Given the description of an element on the screen output the (x, y) to click on. 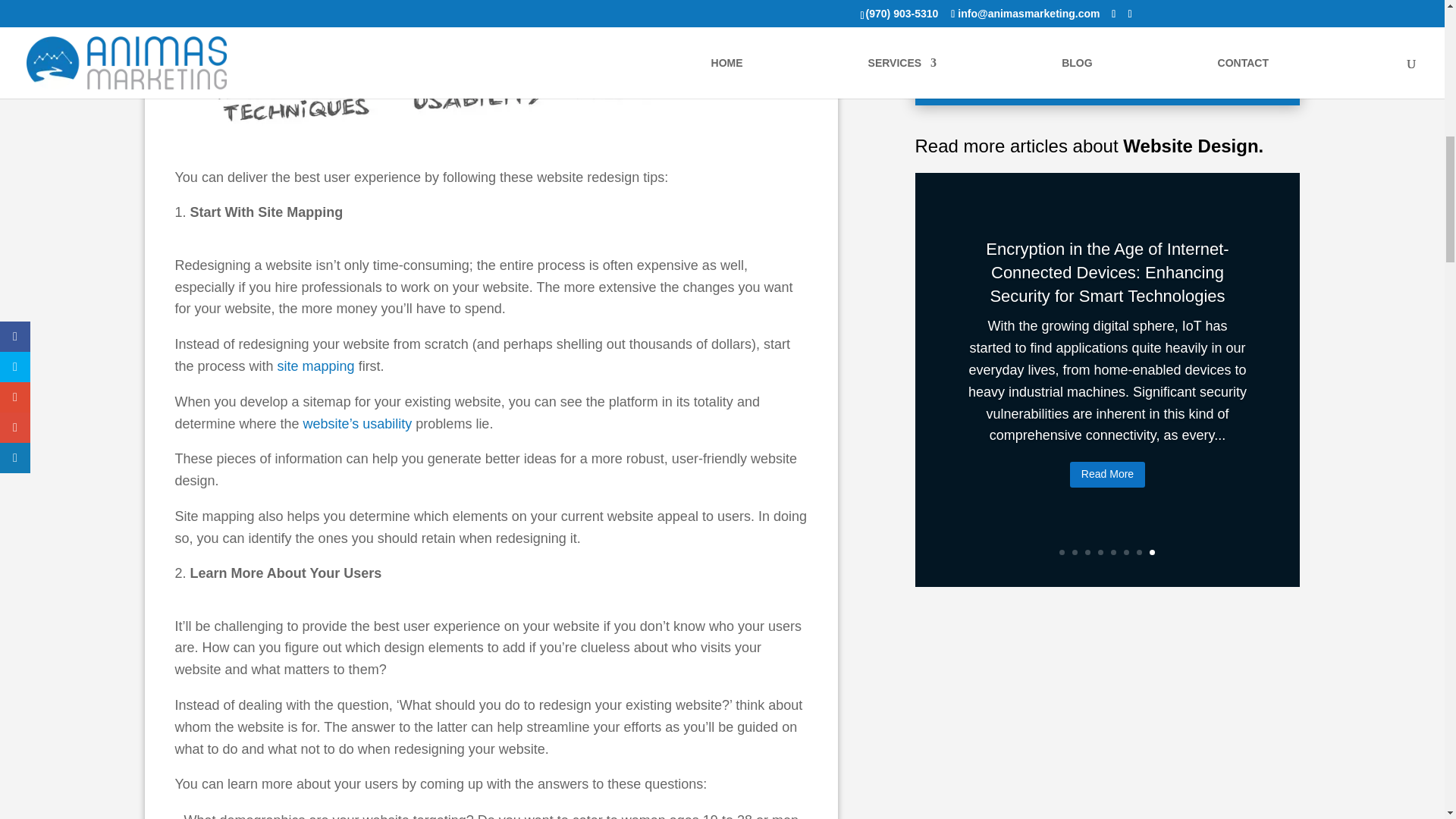
site mapping (316, 365)
